Given the description of an element on the screen output the (x, y) to click on. 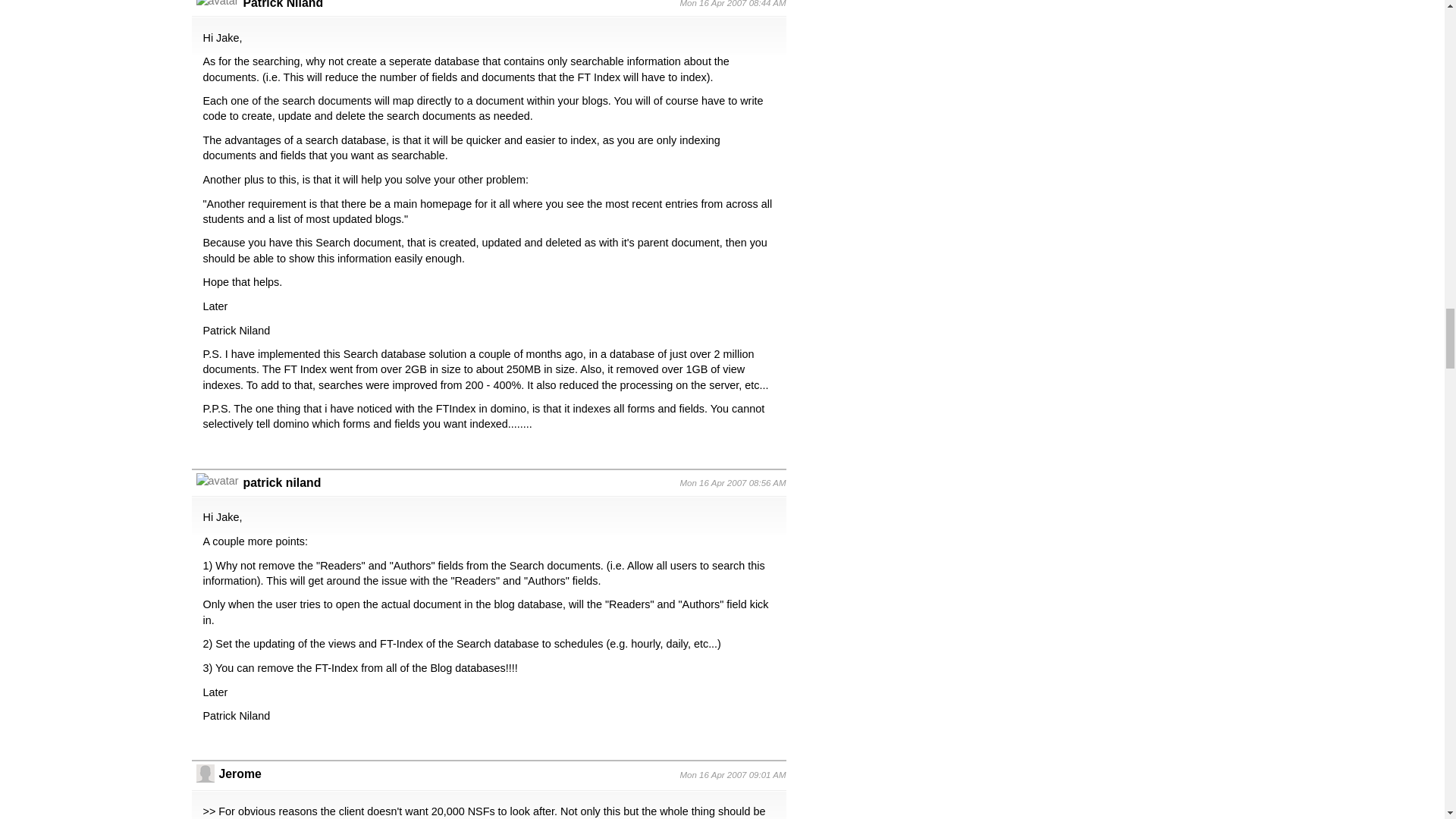
patrick niland (281, 481)
Patrick Niland (283, 4)
Click to Email (283, 4)
Click to Email (281, 481)
